Given the description of an element on the screen output the (x, y) to click on. 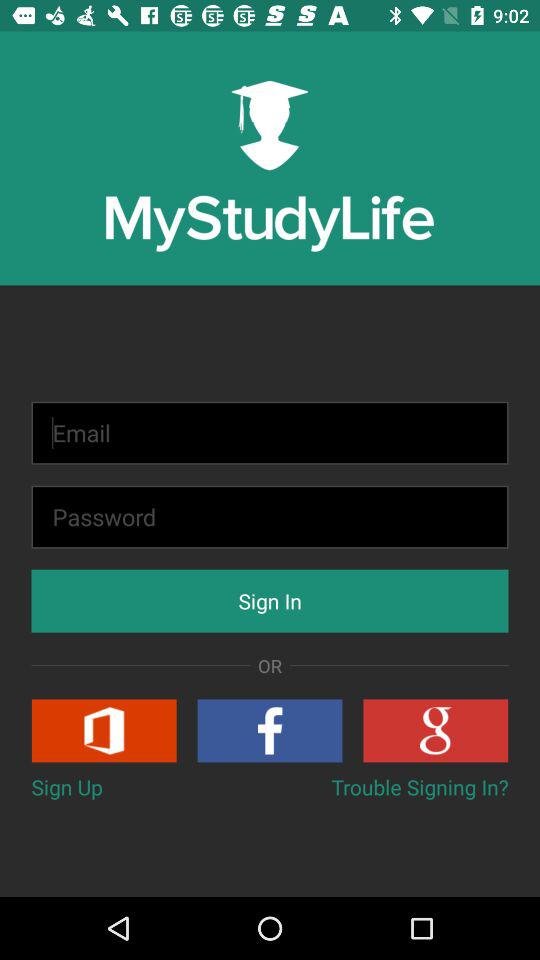
tap the button to the left of trouble signing in? button (66, 786)
